Given the description of an element on the screen output the (x, y) to click on. 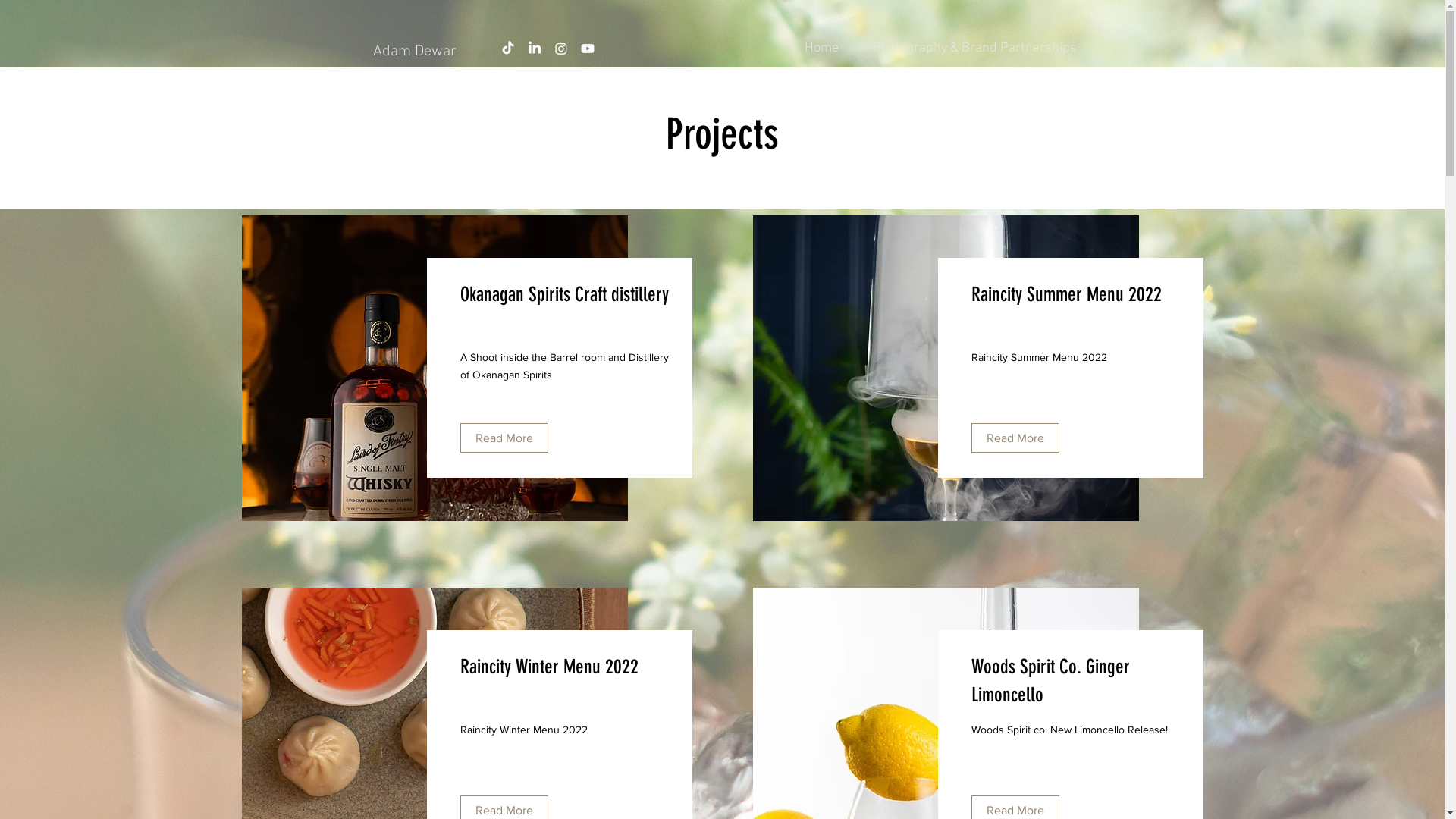
Read More Element type: text (1014, 437)
RaincityDistillery_CocktailShoot_July2022-21.jpg Element type: hover (945, 367)
Photography & Brand Partnerships Element type: text (974, 48)
Home Element type: text (821, 48)
Read More Element type: text (503, 437)
adamDewar_OkanaganSpirits_Apr2022-8.jpg Element type: hover (434, 367)
Adam Dewar Element type: text (414, 51)
